Given the description of an element on the screen output the (x, y) to click on. 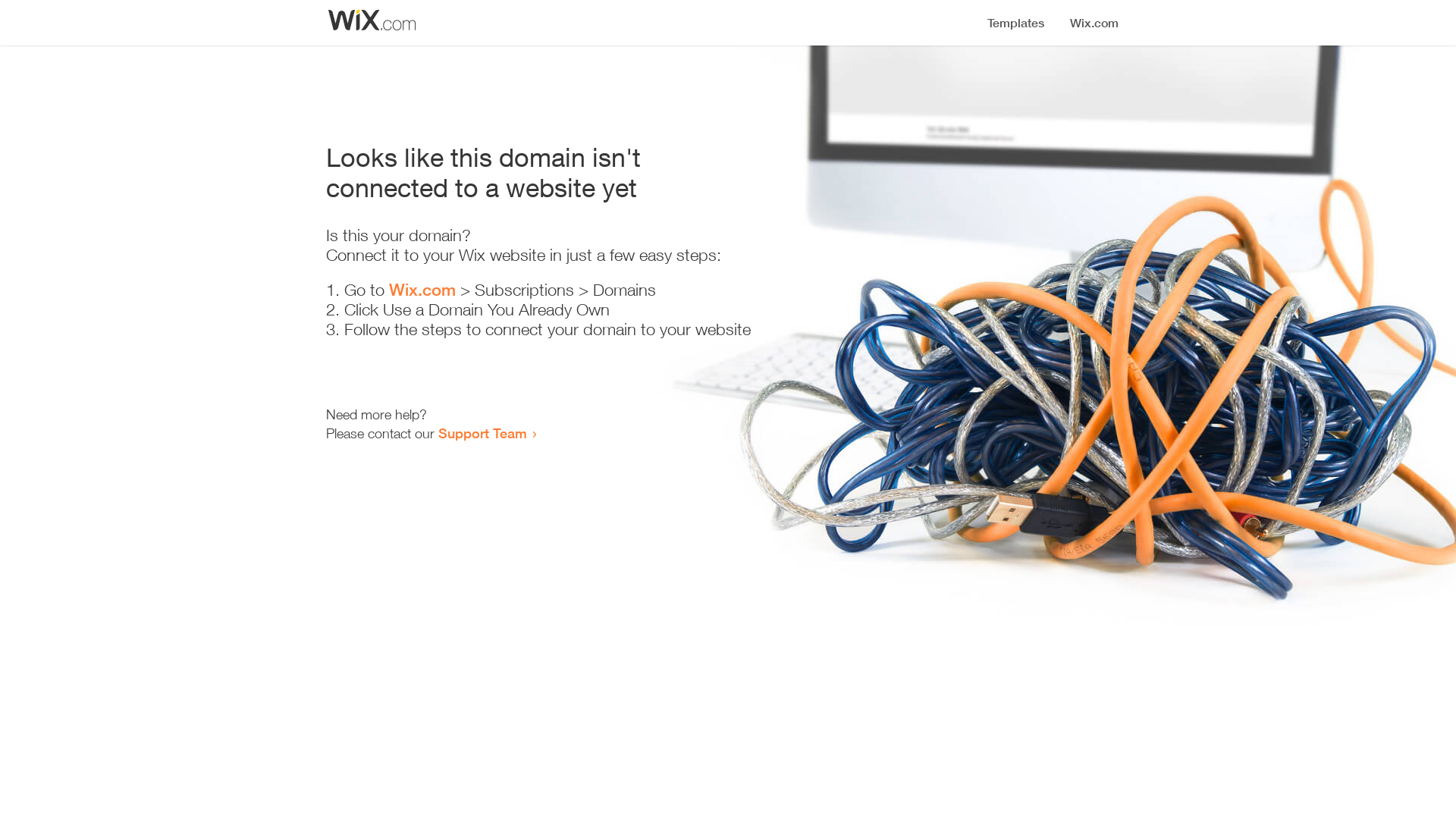
Support Team Element type: text (482, 432)
Wix.com Element type: text (422, 289)
